Given the description of an element on the screen output the (x, y) to click on. 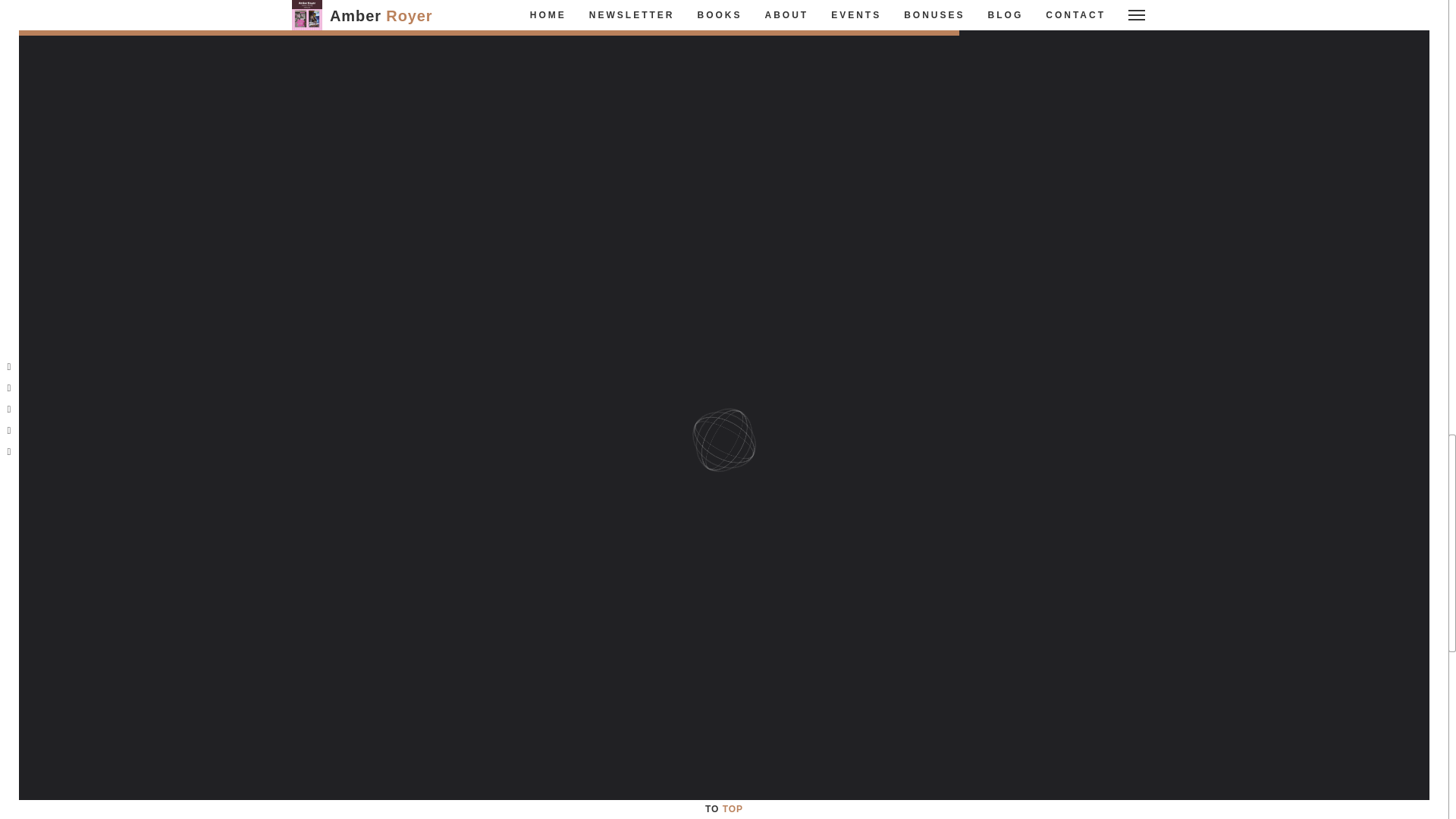
Thursday (1048, 790)
Sunday (1128, 790)
Post Comment (858, 154)
Wednesday (1022, 790)
Tuesday (995, 790)
Friday (1074, 790)
Saturday (1101, 790)
Monday (968, 790)
